Given the description of an element on the screen output the (x, y) to click on. 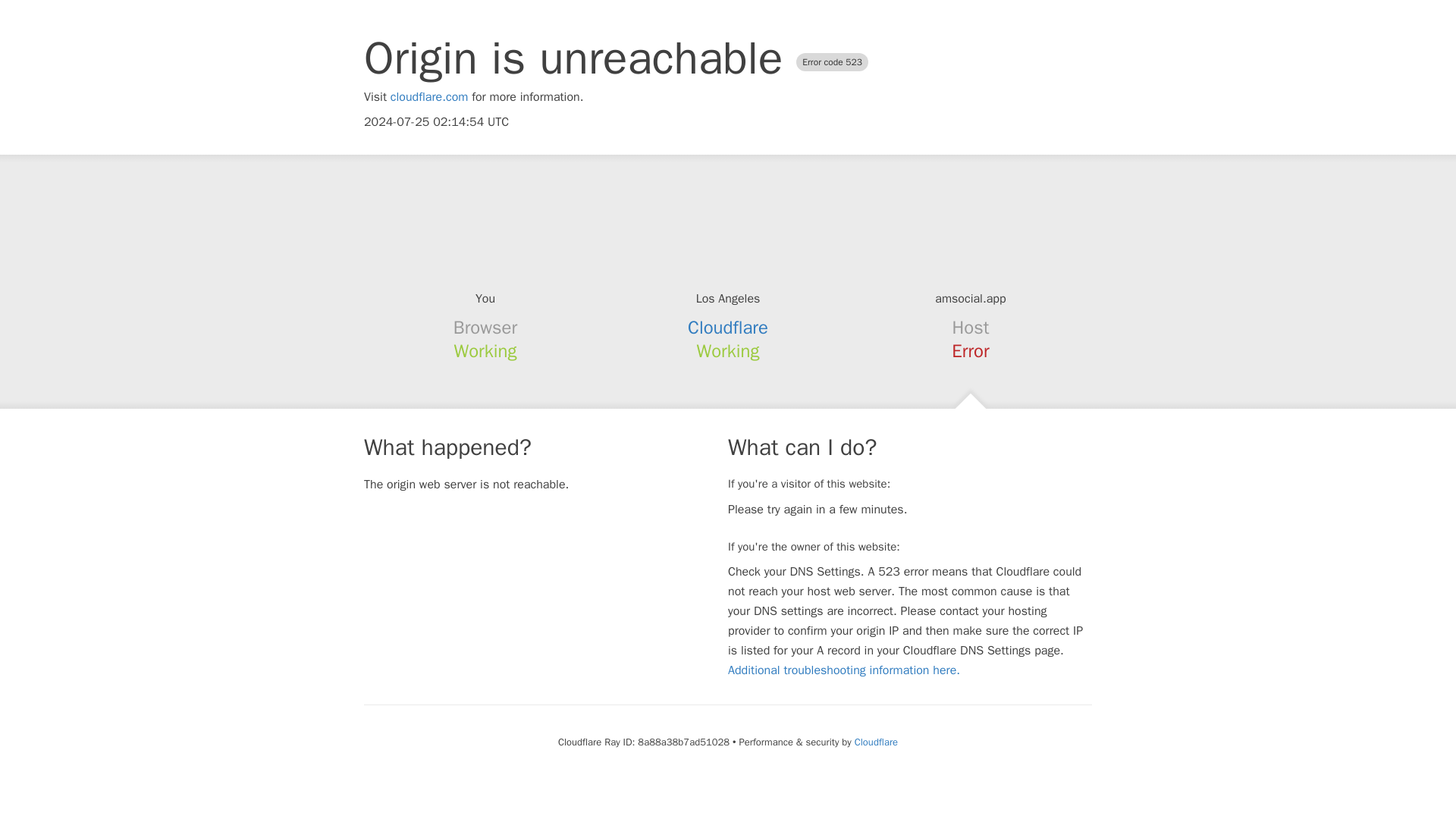
Cloudflare (727, 327)
Additional troubleshooting information here. (843, 670)
cloudflare.com (429, 96)
Cloudflare (876, 741)
